Given the description of an element on the screen output the (x, y) to click on. 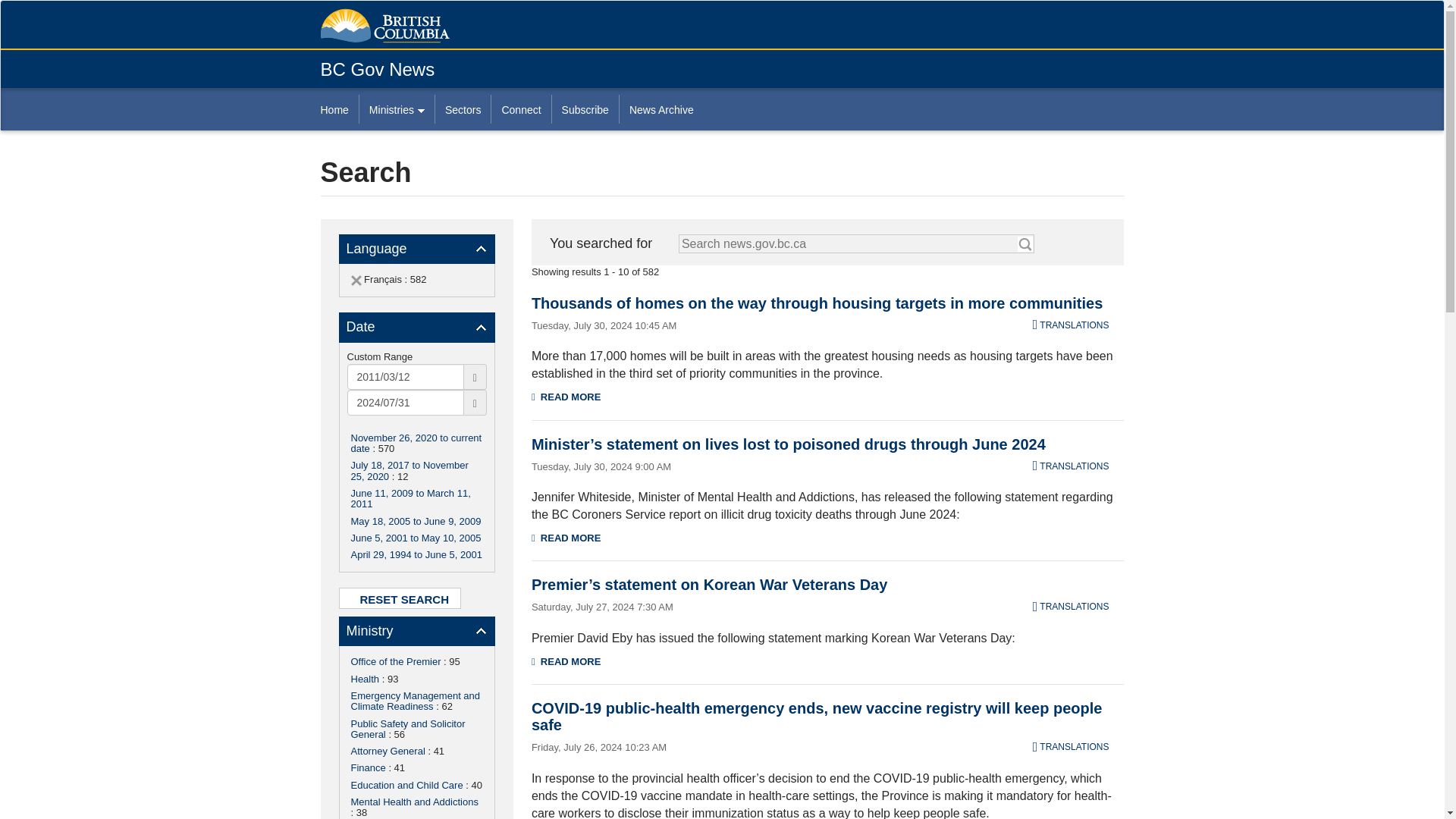
Home (339, 109)
News Archive (660, 109)
Government of B.C. (384, 25)
BC Gov News (376, 68)
Connect (520, 109)
Ministries (395, 109)
Subscribe (584, 109)
Sectors (461, 109)
